Given the description of an element on the screen output the (x, y) to click on. 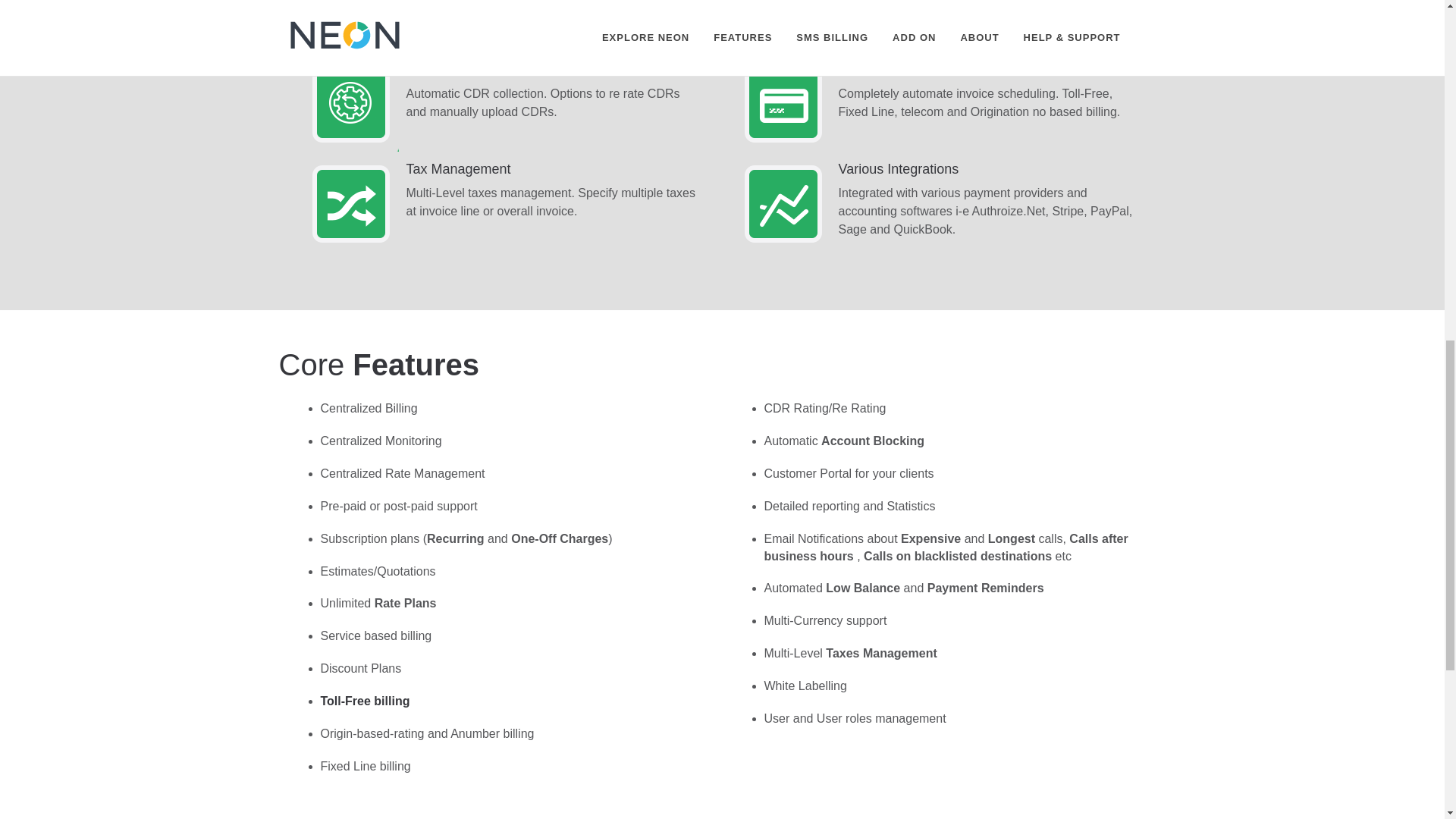
Toll-Free Number Billing (364, 700)
Toll-Free billing (364, 700)
